Given the description of an element on the screen output the (x, y) to click on. 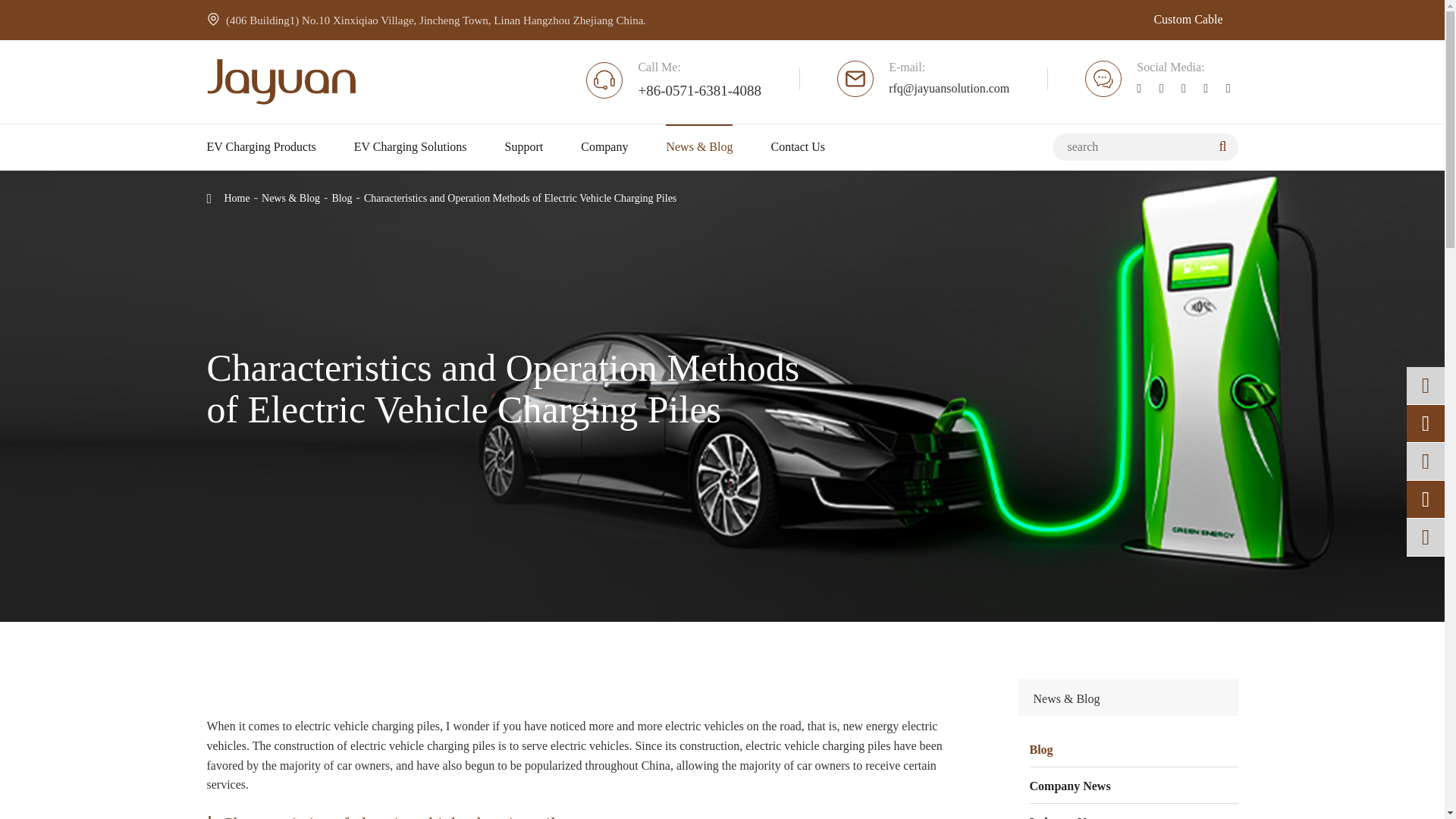
Custom Cable (1188, 19)
Hangzhou Jiayuan Import and Export Co., Ltd. (280, 81)
EV Charging Products (260, 147)
Blog (341, 197)
Blog (1134, 749)
EV Charging Solutions (410, 147)
Company (603, 147)
